Given the description of an element on the screen output the (x, y) to click on. 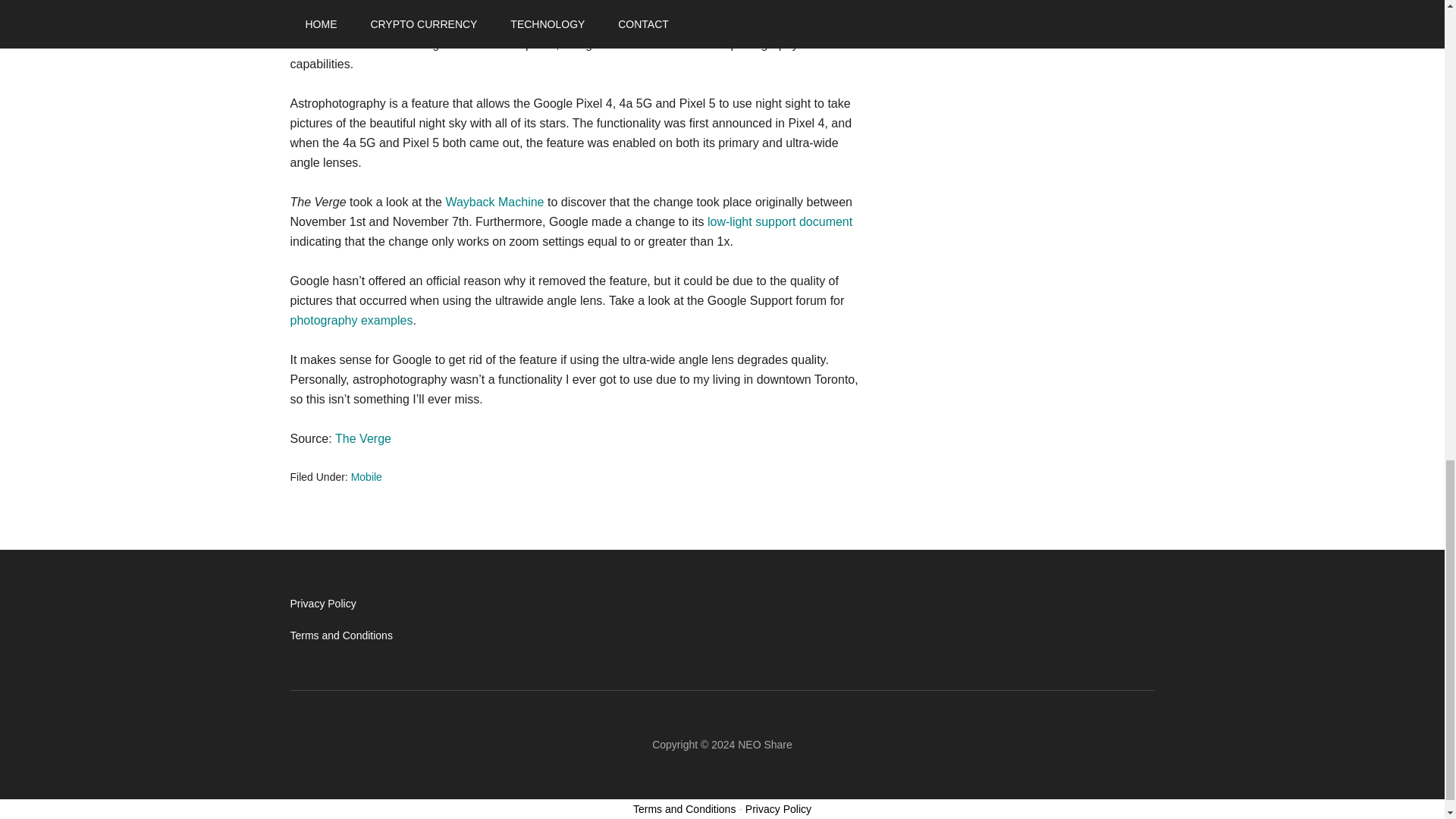
low-light support document (779, 221)
photography examples (350, 319)
Privacy Policy (777, 808)
Wayback Machine (494, 201)
The Verge (362, 438)
Terms and Conditions (340, 635)
Privacy Policy (322, 603)
Mobile (365, 476)
Terms and Conditions (684, 808)
